Given the description of an element on the screen output the (x, y) to click on. 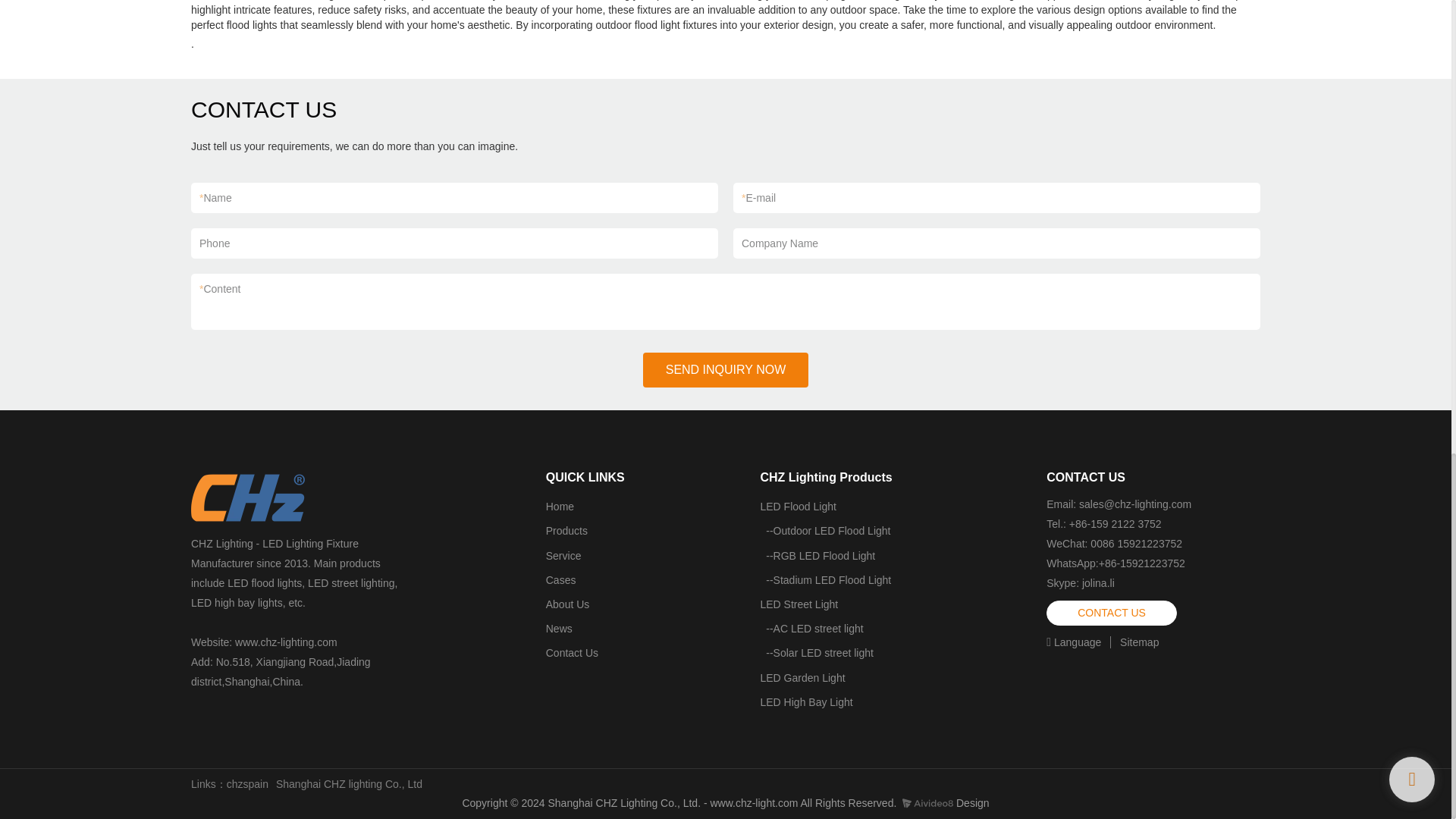
Cases (561, 580)
News (559, 628)
Contact Us (572, 653)
SEND INQUIRY NOW (726, 369)
Home (559, 506)
Products (567, 530)
About Us (567, 604)
Service (563, 555)
